Given the description of an element on the screen output the (x, y) to click on. 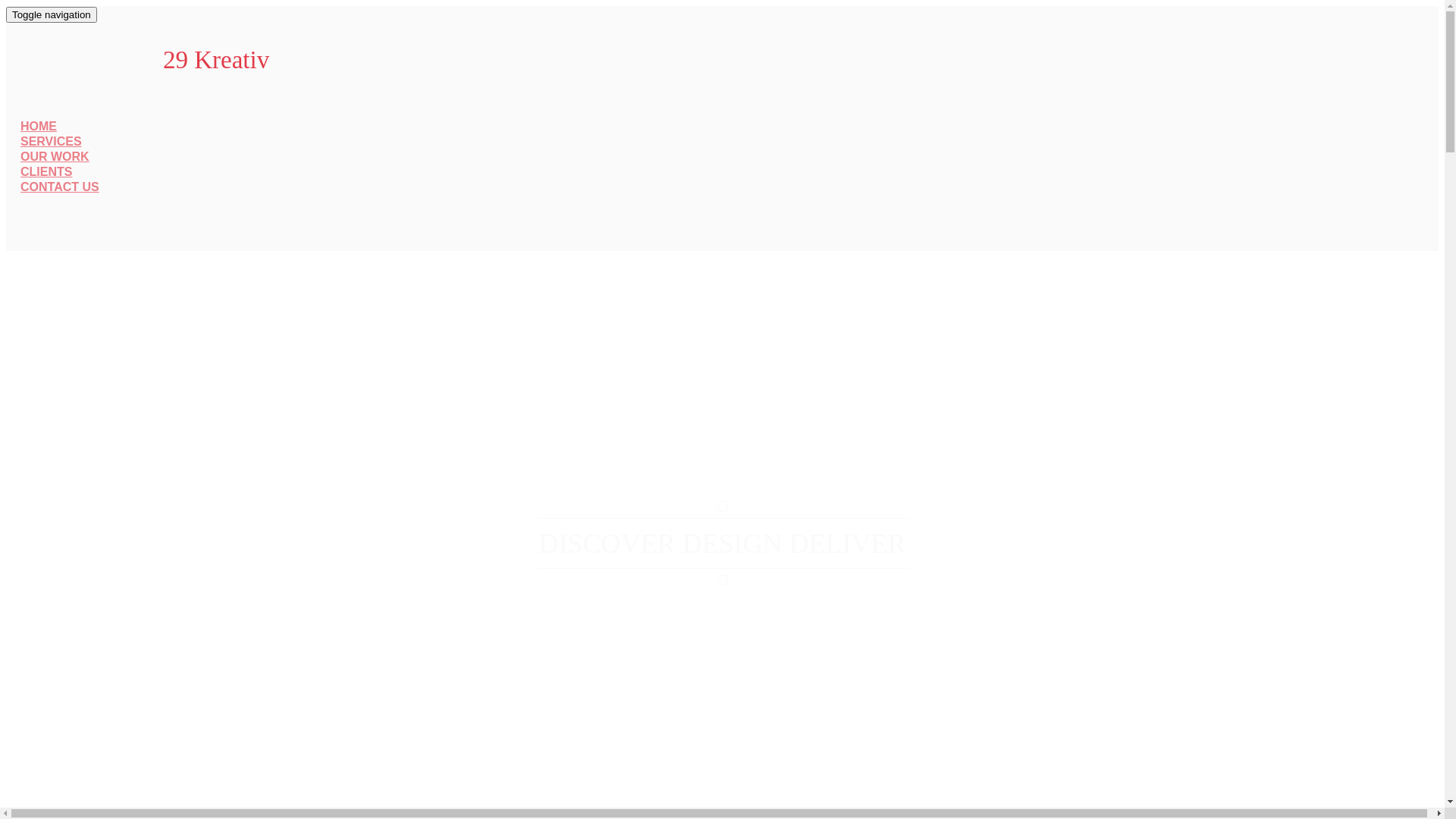
OUR WORK Element type: text (54, 156)
CONTACT US Element type: text (59, 186)
SERVICES Element type: text (51, 140)
Toggle navigation Element type: text (51, 14)
HOME Element type: text (38, 125)
CLIENTS Element type: text (46, 171)
